Given the description of an element on the screen output the (x, y) to click on. 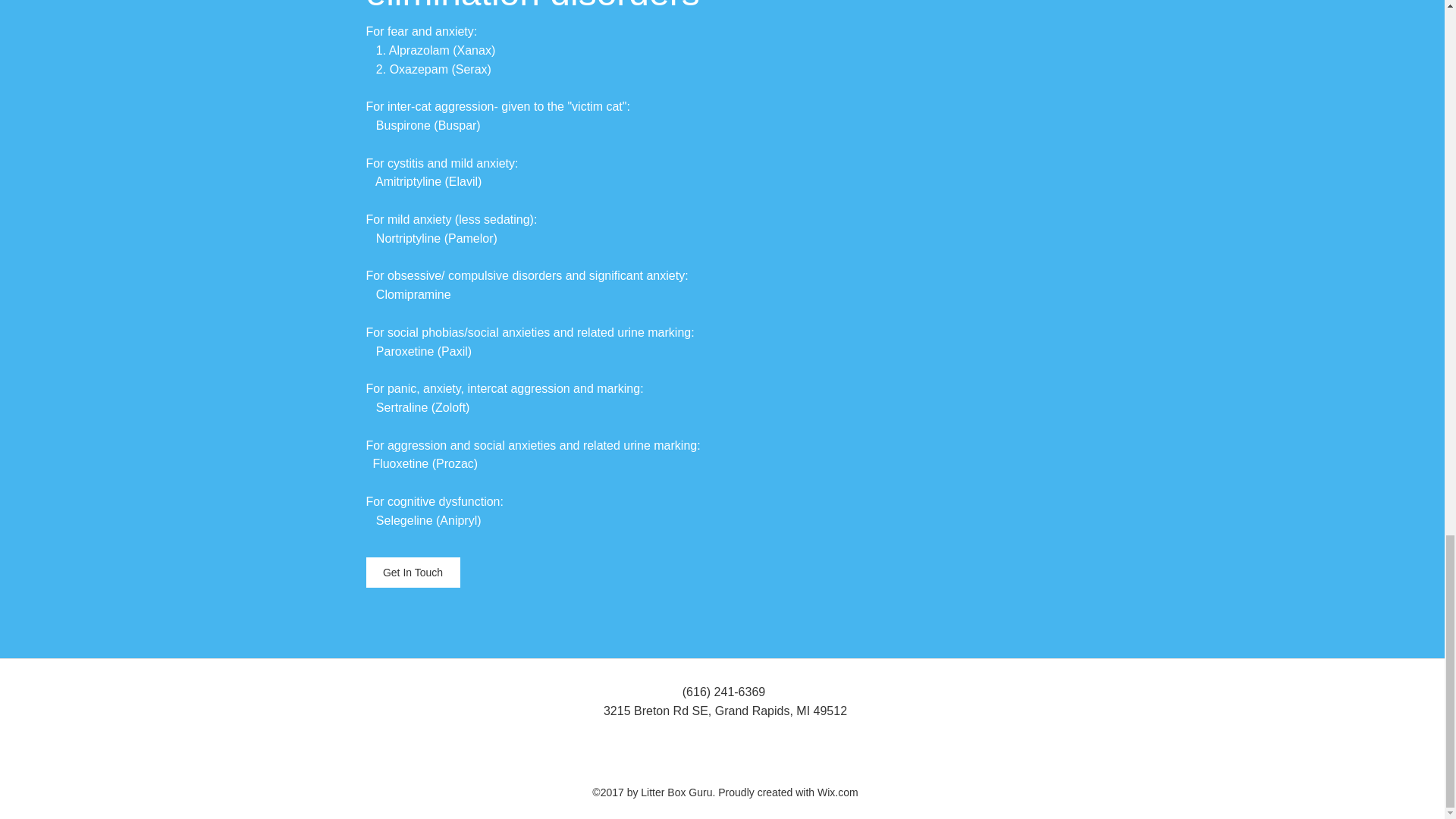
Get In Touch (412, 572)
